Given the description of an element on the screen output the (x, y) to click on. 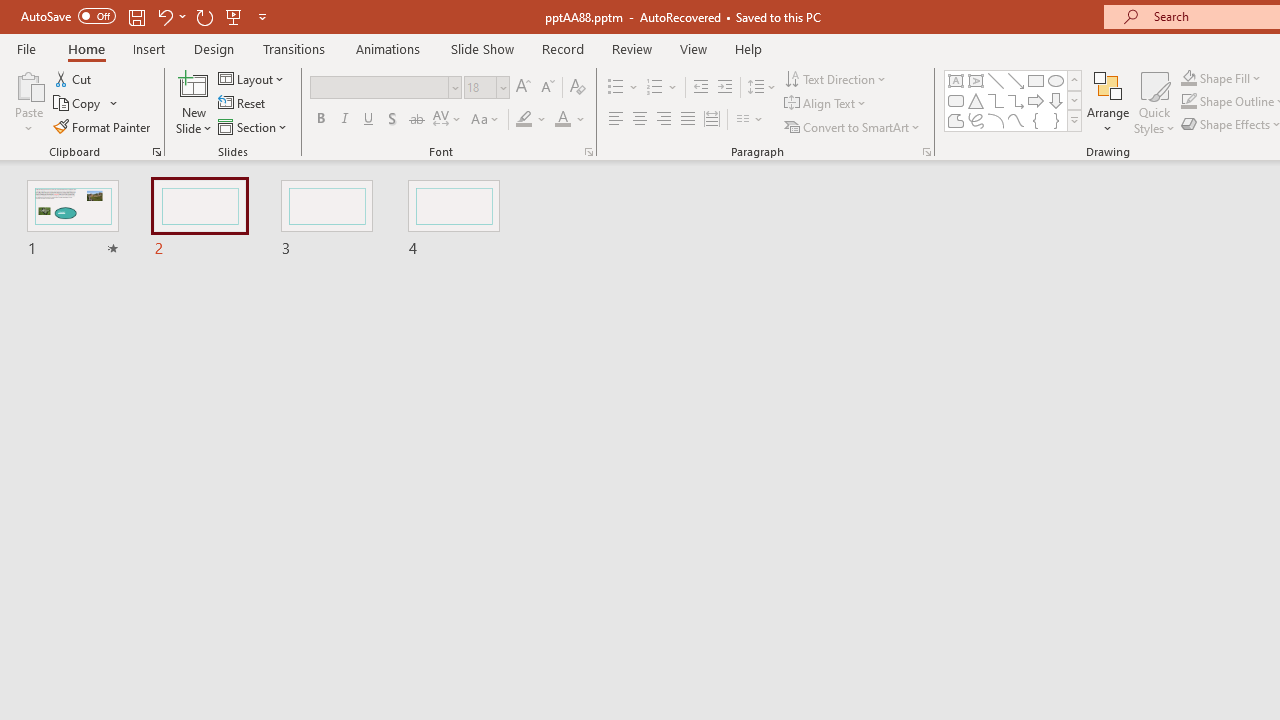
Increase Indent (725, 87)
Increase Font Size (522, 87)
Change Case (486, 119)
Format Painter (103, 126)
Font Color Red (562, 119)
Office Clipboard... (156, 151)
